Given the description of an element on the screen output the (x, y) to click on. 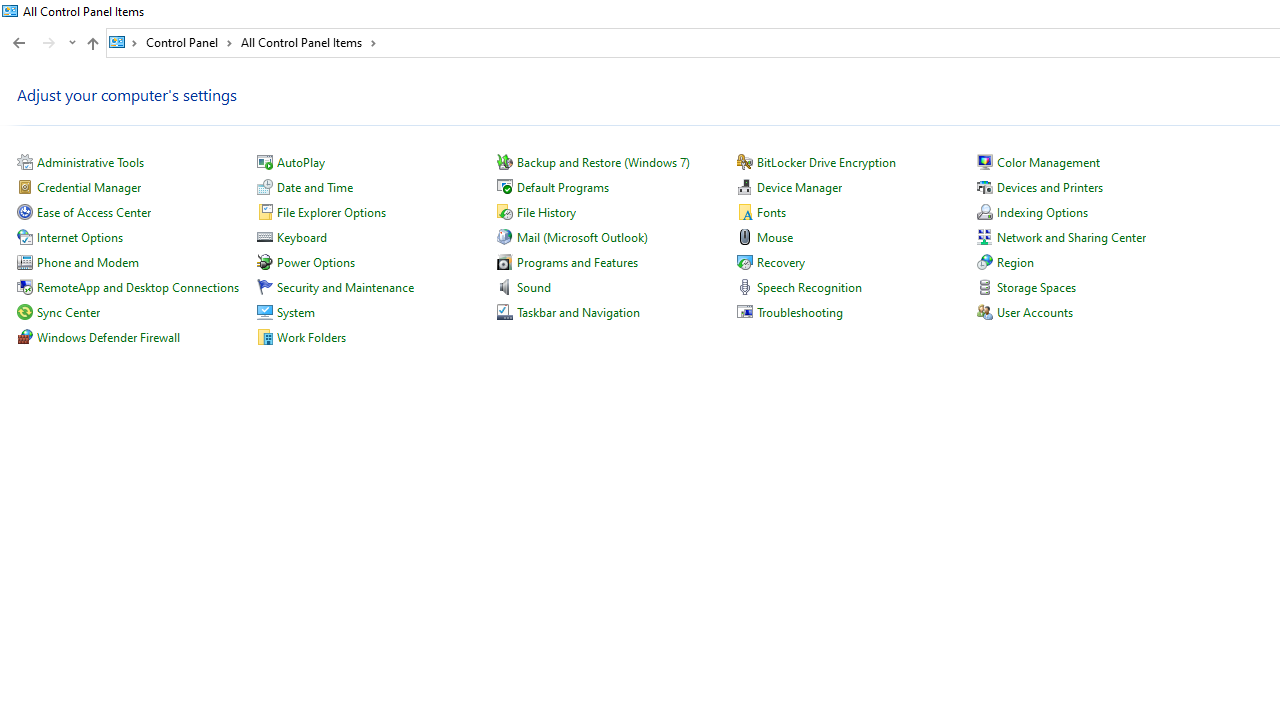
Sound (533, 287)
Recent locations (71, 43)
File History (546, 212)
Devices and Printers (1049, 187)
Fonts (771, 212)
Taskbar and Navigation (578, 312)
Icon (984, 312)
Troubleshooting (799, 312)
Mail (Microsoft Outlook) (582, 236)
Region (1014, 262)
Network and Sharing Center (1071, 236)
Work Folders (311, 336)
Date and Time (314, 187)
Programs and Features (577, 262)
System (10, 11)
